Given the description of an element on the screen output the (x, y) to click on. 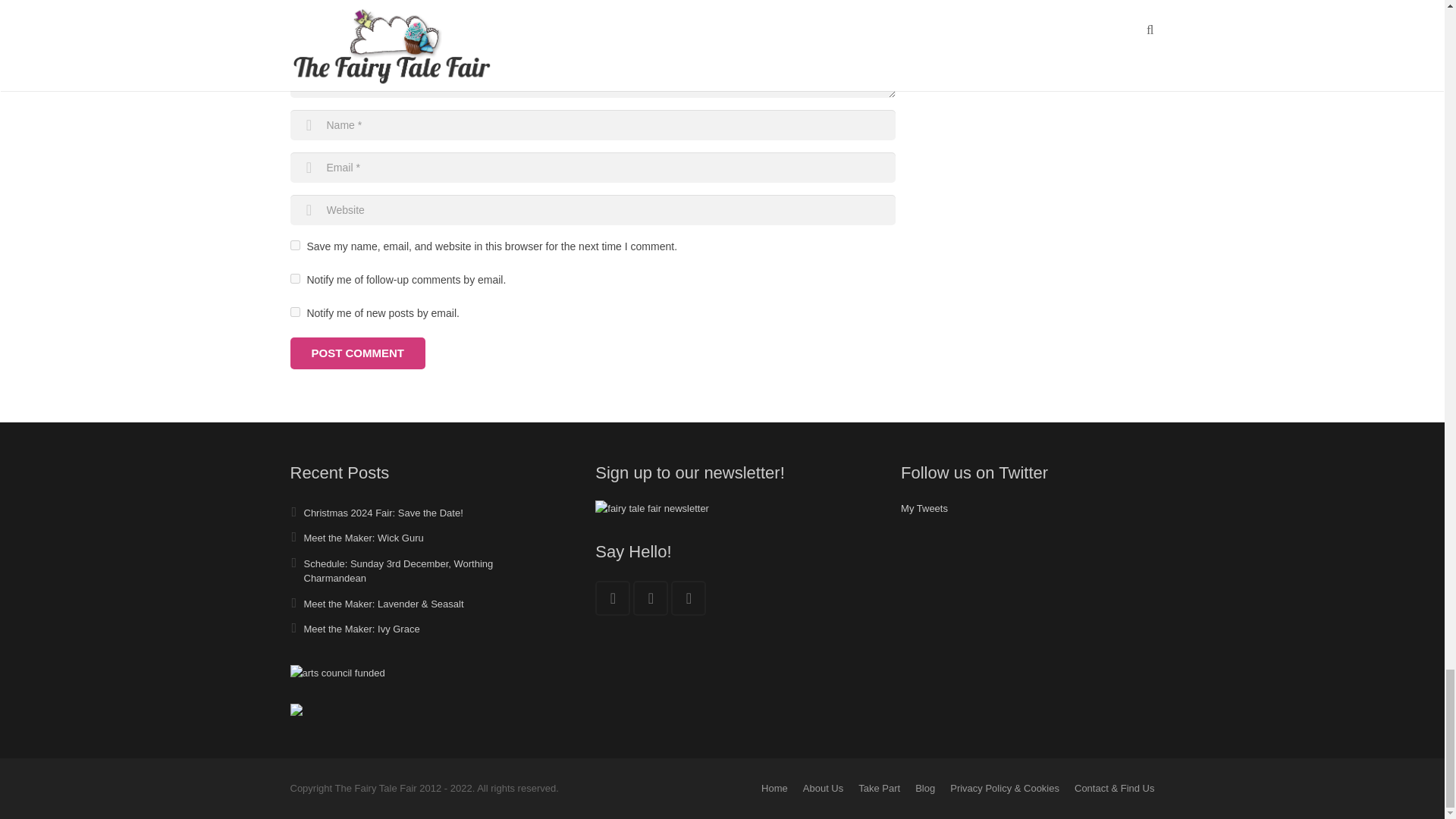
subscribe (294, 278)
Post Comment (357, 353)
yes (294, 245)
subscribe (294, 311)
